Given the description of an element on the screen output the (x, y) to click on. 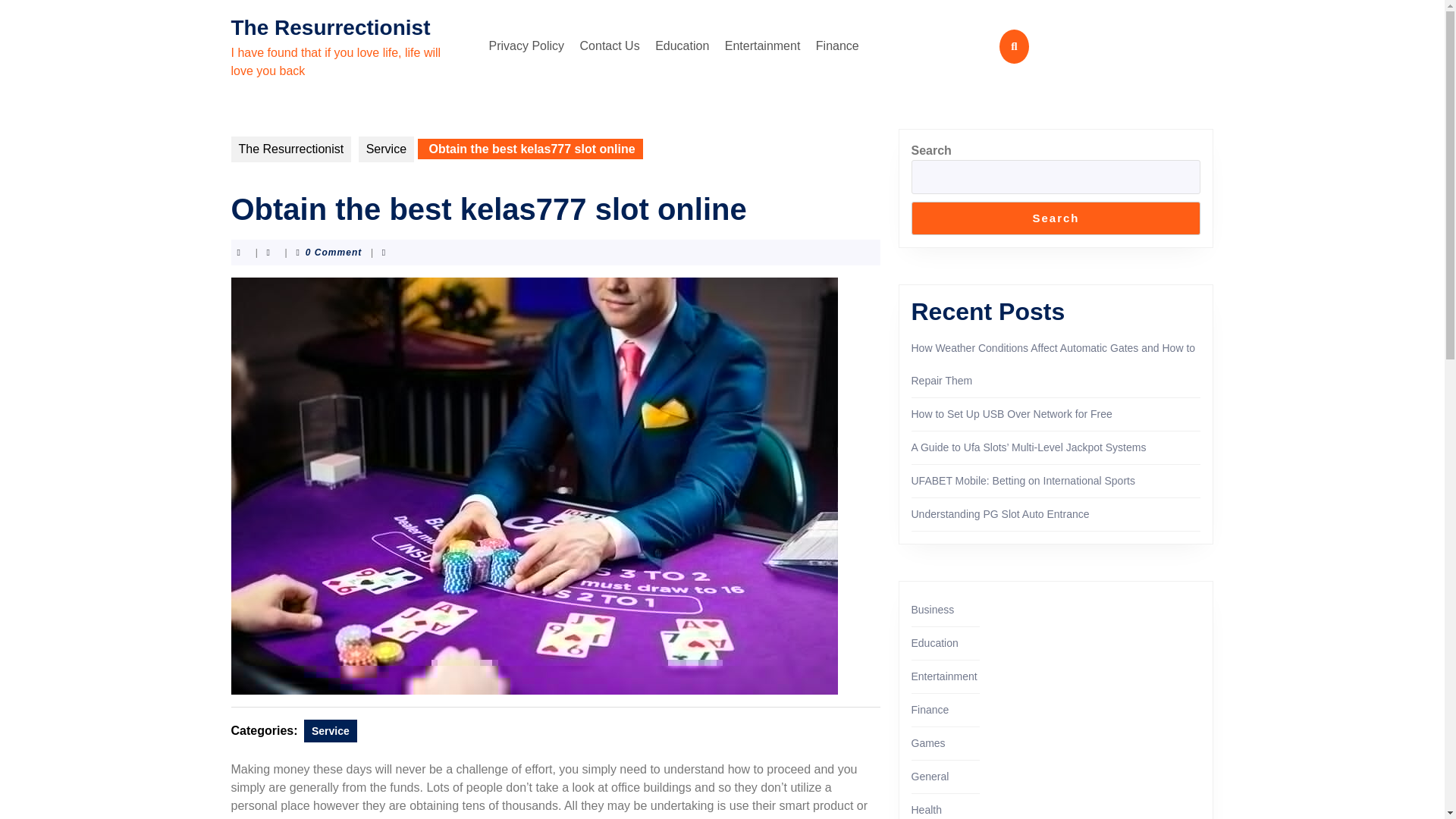
Search (1056, 218)
Finance (836, 46)
Understanding PG Slot Auto Entrance (1000, 513)
General (930, 776)
Entertainment (762, 46)
Business (933, 609)
Service (385, 149)
Games (927, 743)
Finance (930, 709)
Privacy Policy (525, 46)
